Given the description of an element on the screen output the (x, y) to click on. 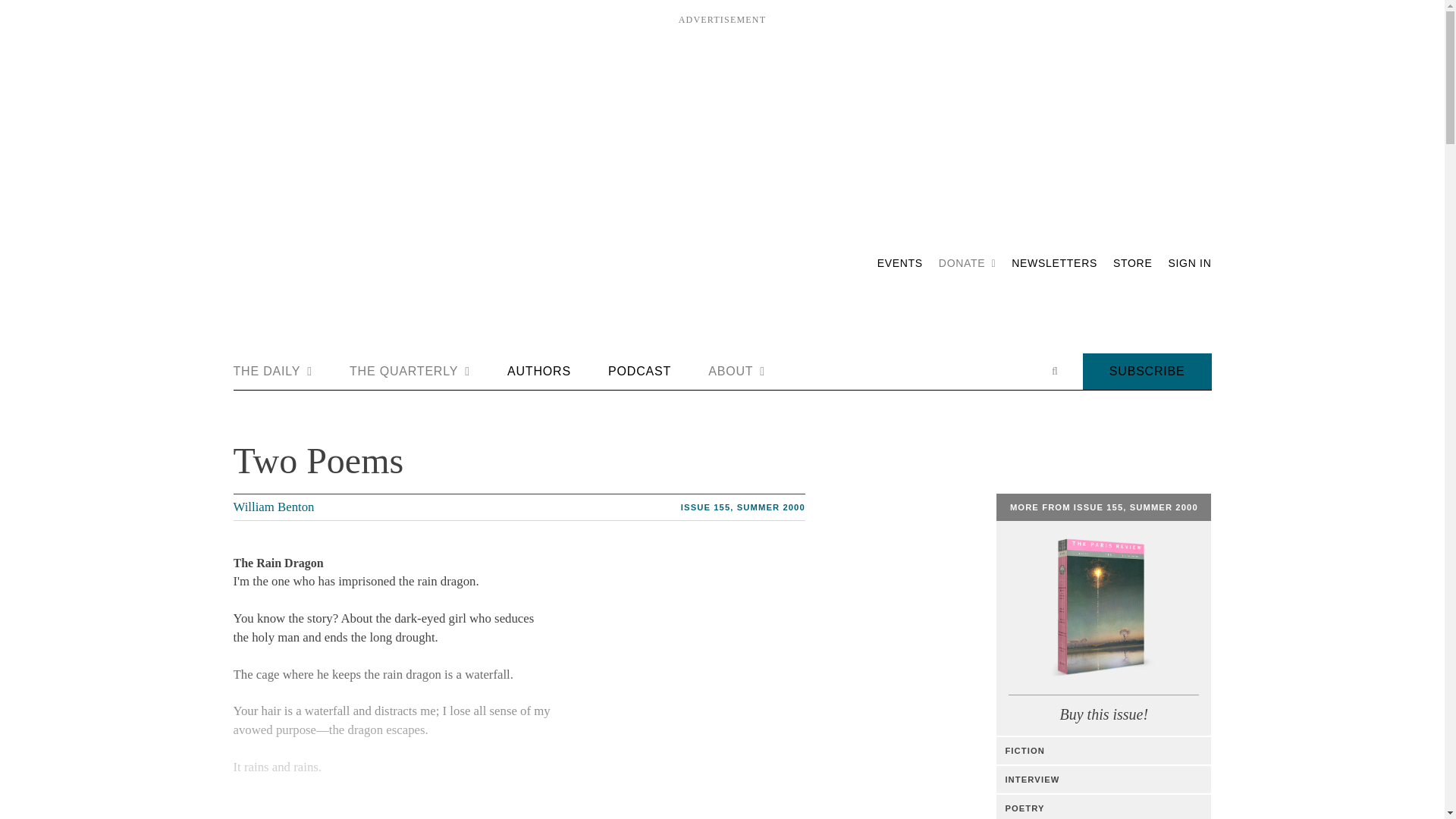
THE QUARTERLY (409, 371)
Open search (1054, 371)
THE DAILY (272, 371)
